Given the description of an element on the screen output the (x, y) to click on. 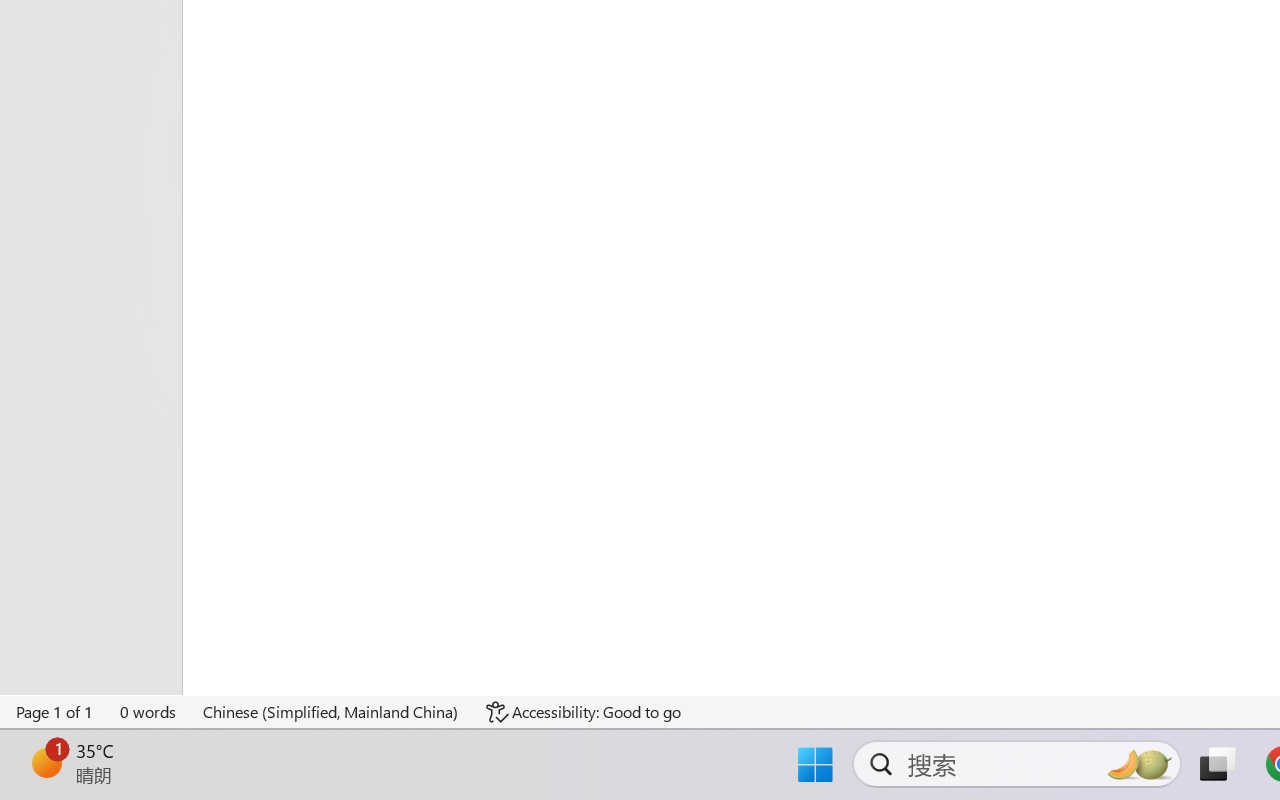
Language Chinese (Simplified, Mainland China) (331, 712)
